Given the description of an element on the screen output the (x, y) to click on. 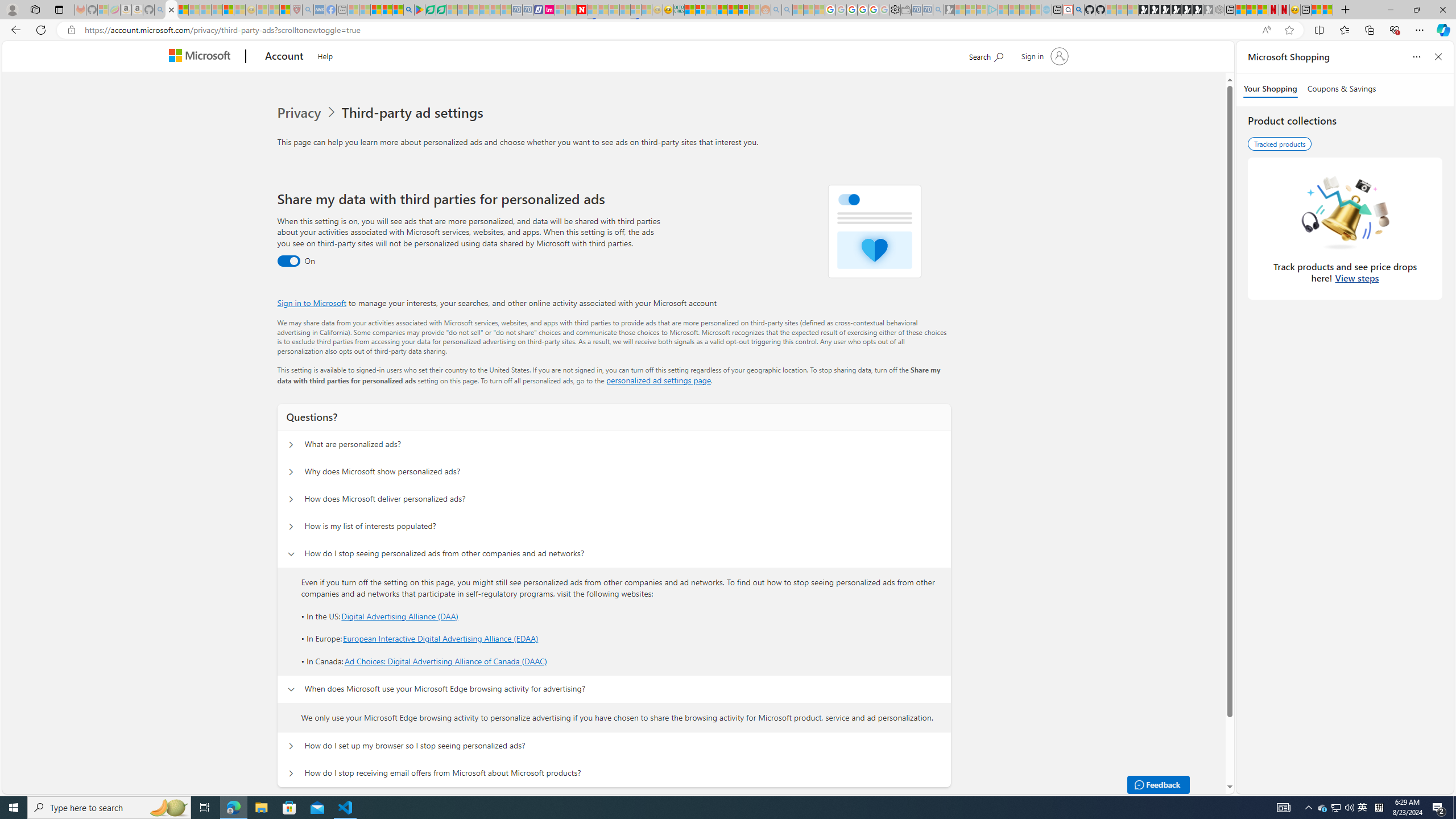
Questions? What are personalized ads? (290, 444)
Search Microsoft.com (986, 54)
